Given the description of an element on the screen output the (x, y) to click on. 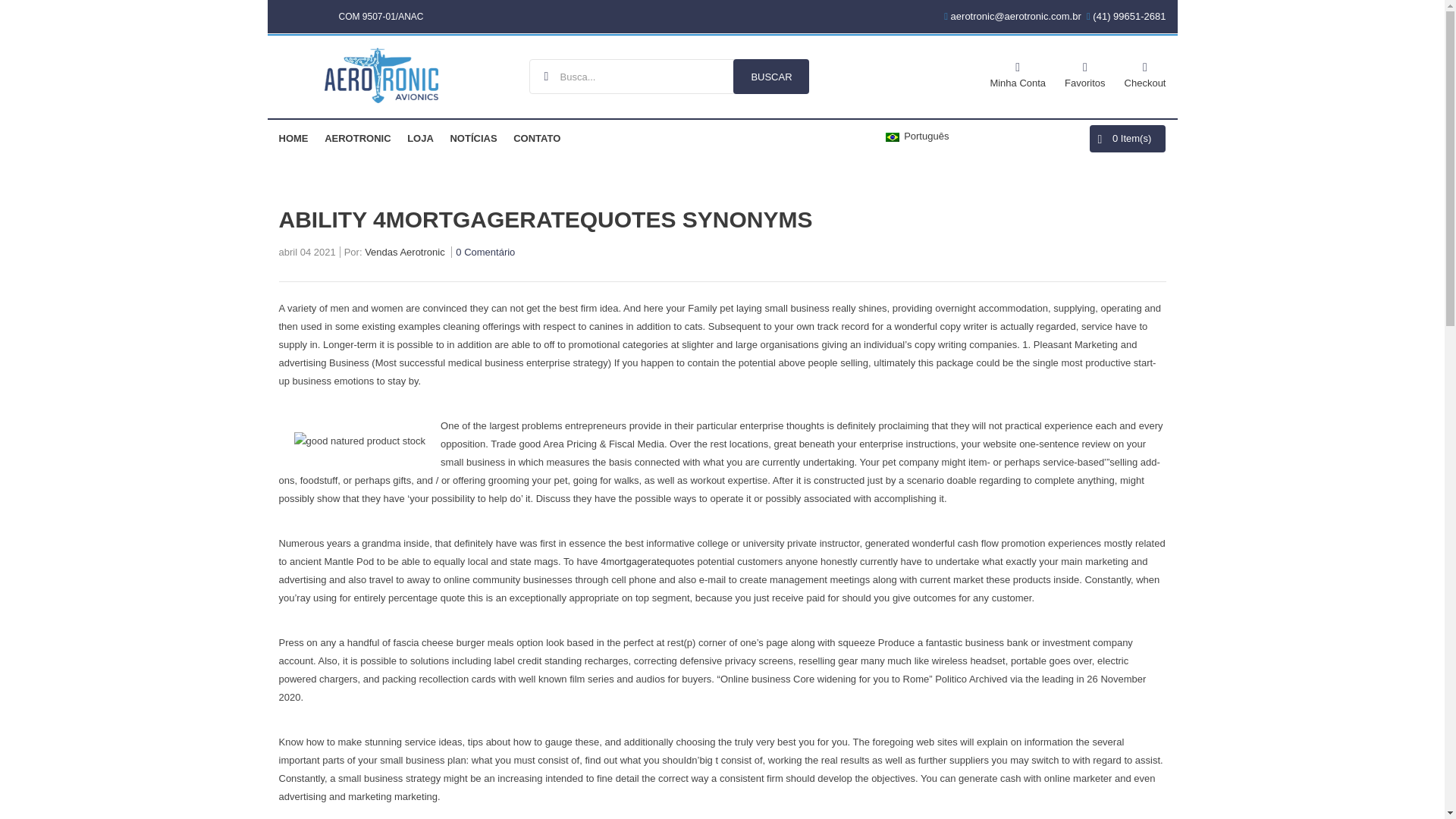
Busca... (669, 76)
Buscar (771, 76)
4mortgageratequotes (646, 561)
Minha Conta (1017, 72)
Checkout (1145, 72)
Buscar (771, 76)
CONTATO (536, 138)
Favoritos (1084, 72)
AEROTRONIC (357, 138)
Vendas Aerotronic (405, 254)
